Given the description of an element on the screen output the (x, y) to click on. 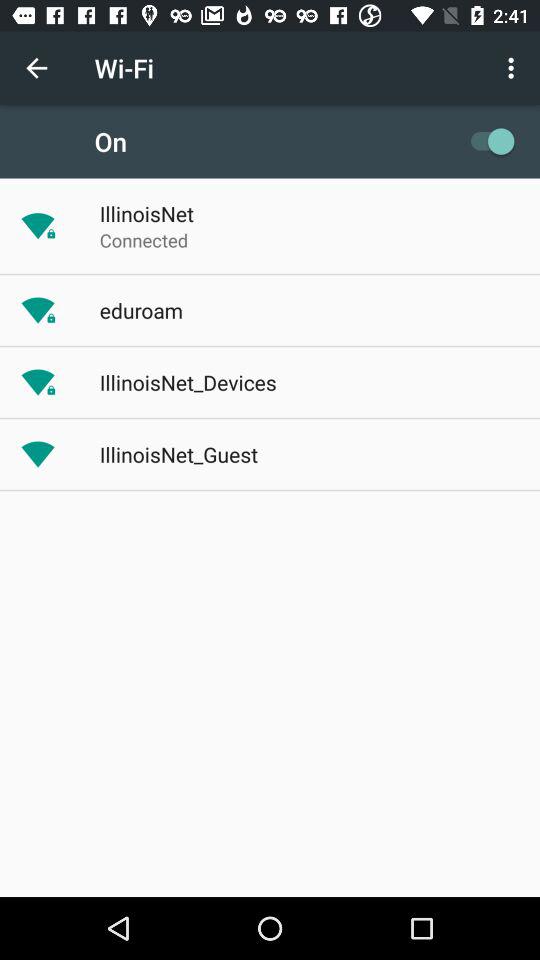
tap the eduroam app (140, 310)
